Given the description of an element on the screen output the (x, y) to click on. 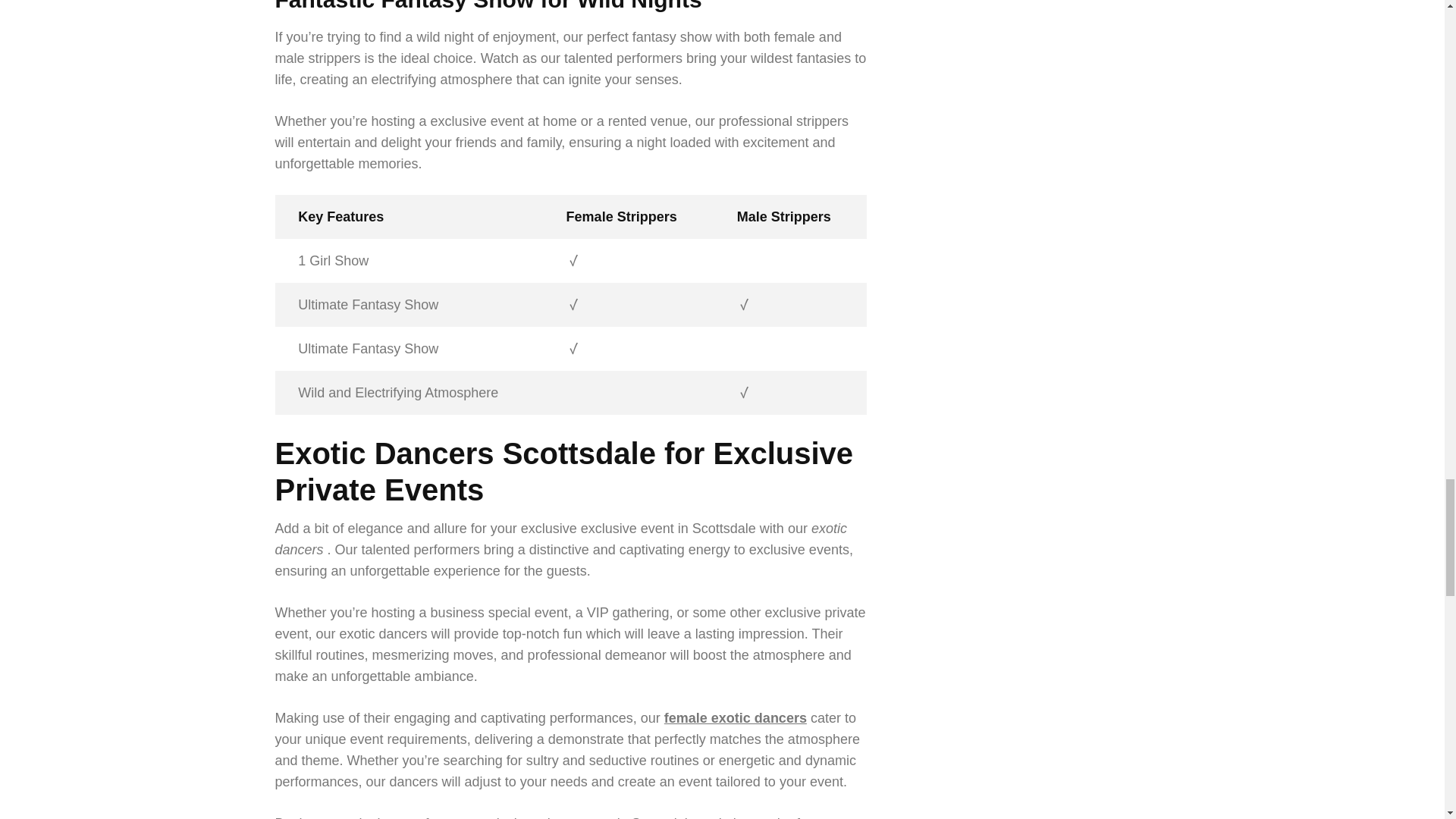
female exotic dancers (734, 717)
